Given the description of an element on the screen output the (x, y) to click on. 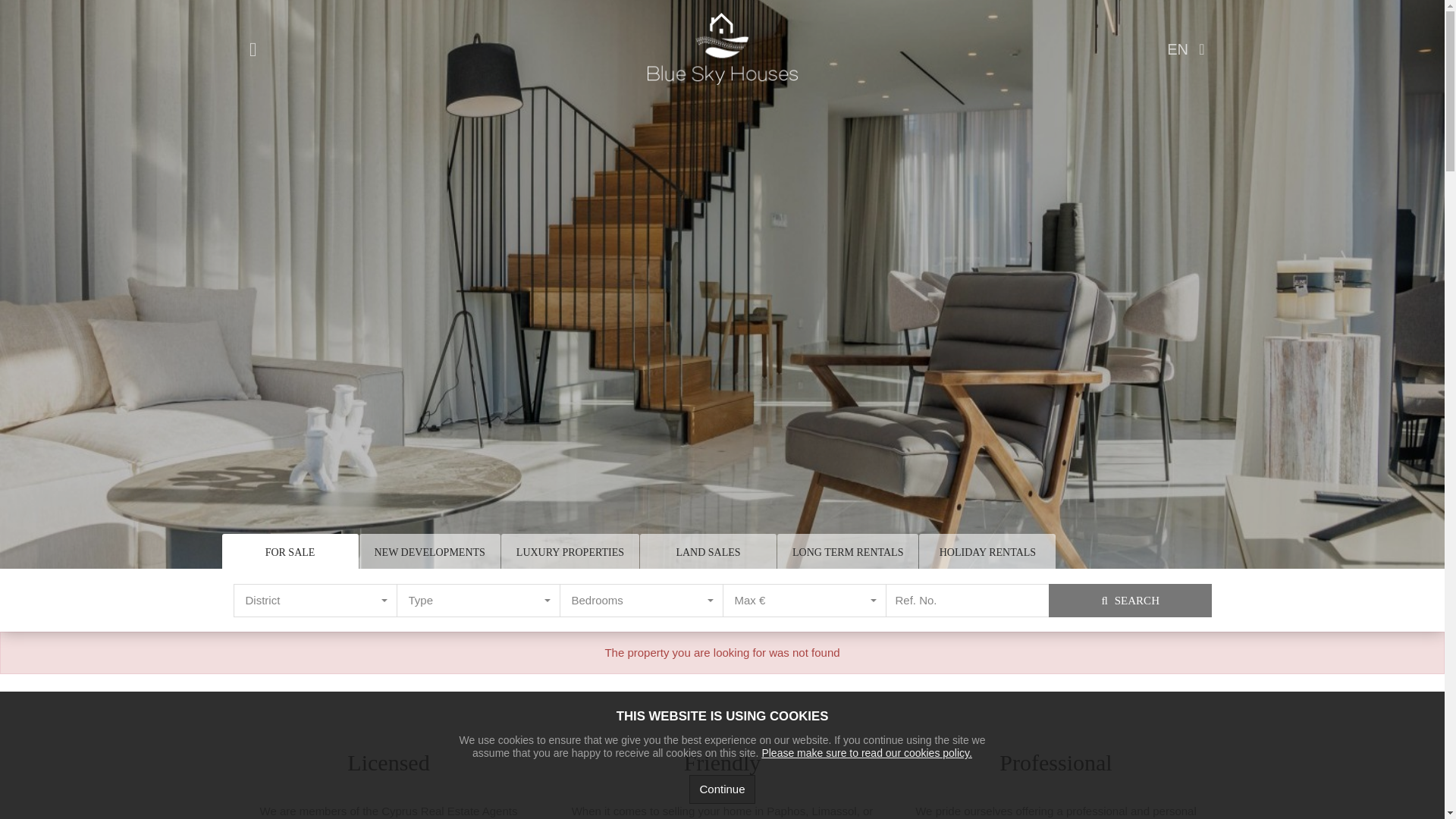
Type (477, 600)
LONG TERM RENTALS (847, 551)
HOLIDAY RENTALS (477, 600)
District (986, 551)
FOR SALE (314, 600)
LUXURY PROPERTIES (289, 551)
Bedrooms (569, 551)
NEW DEVELOPMENTS (641, 600)
